Given the description of an element on the screen output the (x, y) to click on. 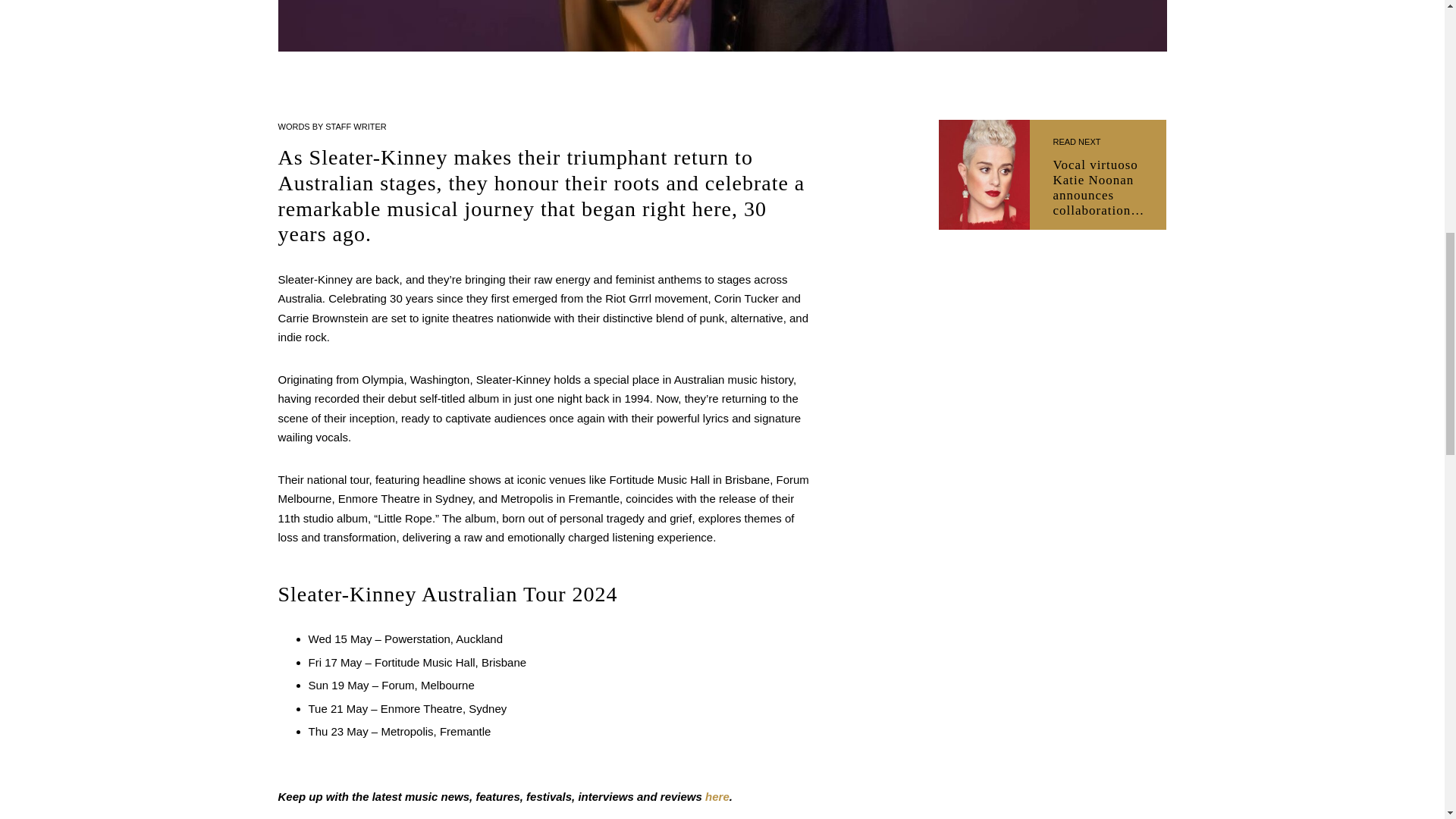
here (716, 796)
